Given the description of an element on the screen output the (x, y) to click on. 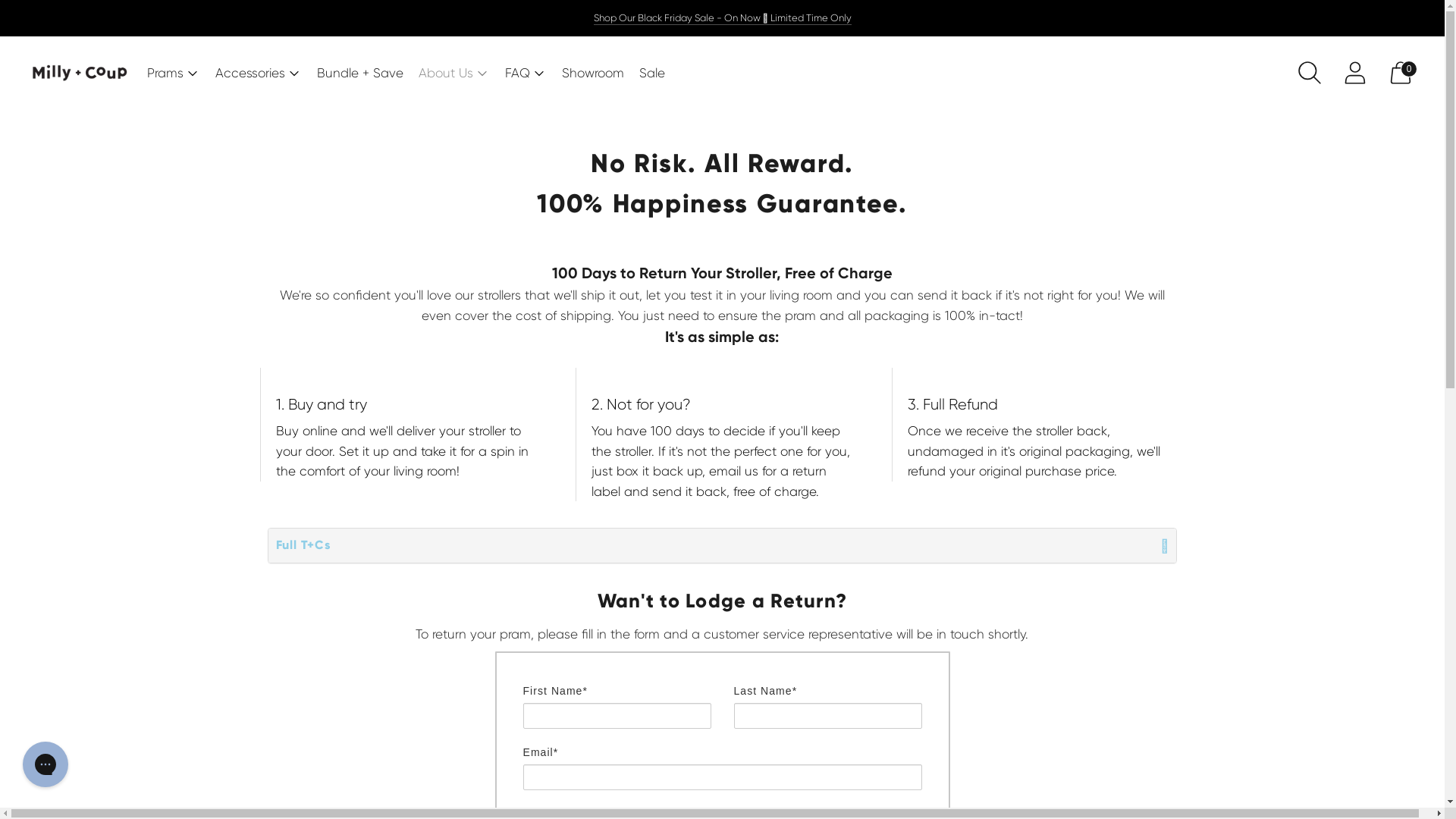
Bundle + Save Element type: text (359, 72)
FAQ Element type: text (525, 72)
About Us Element type: text (453, 72)
Prams Element type: text (173, 72)
Sale Element type: text (652, 72)
0 Element type: text (1400, 72)
Showroom Element type: text (592, 72)
Accessories Element type: text (258, 72)
Gorgias live chat messenger Element type: hover (45, 764)
